Given the description of an element on the screen output the (x, y) to click on. 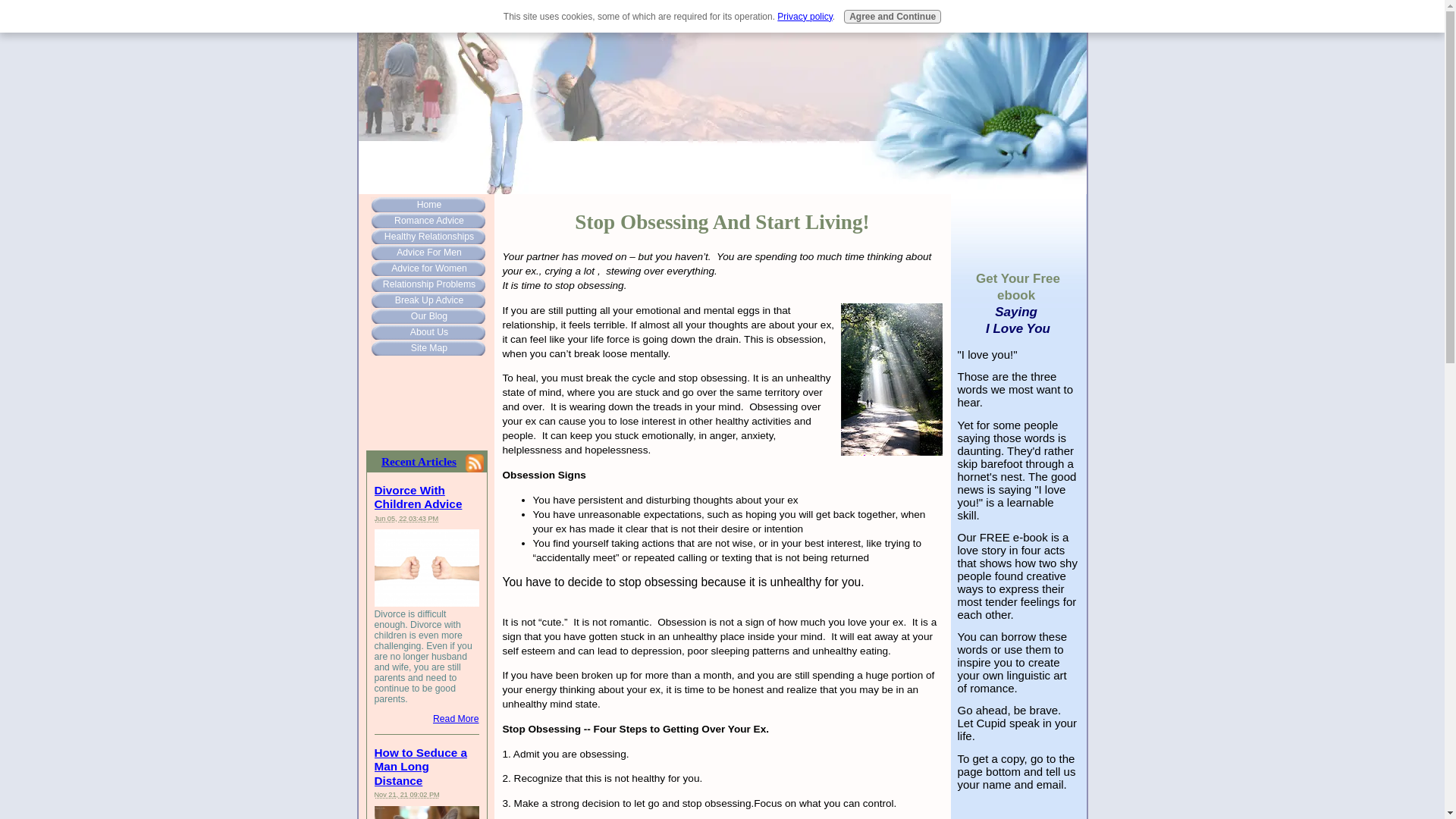
Divorce With Children Advice (418, 497)
How to Seduce a Man Long Distance (420, 766)
2022-06-05T15:43:26-0400 (406, 518)
About Us (426, 331)
Relationship Problems (426, 283)
2021-11-21T21:02:10-0500 (406, 794)
Recent Articles (419, 461)
Read More (455, 718)
Site Map (426, 347)
Romance Advice (426, 220)
